Given the description of an element on the screen output the (x, y) to click on. 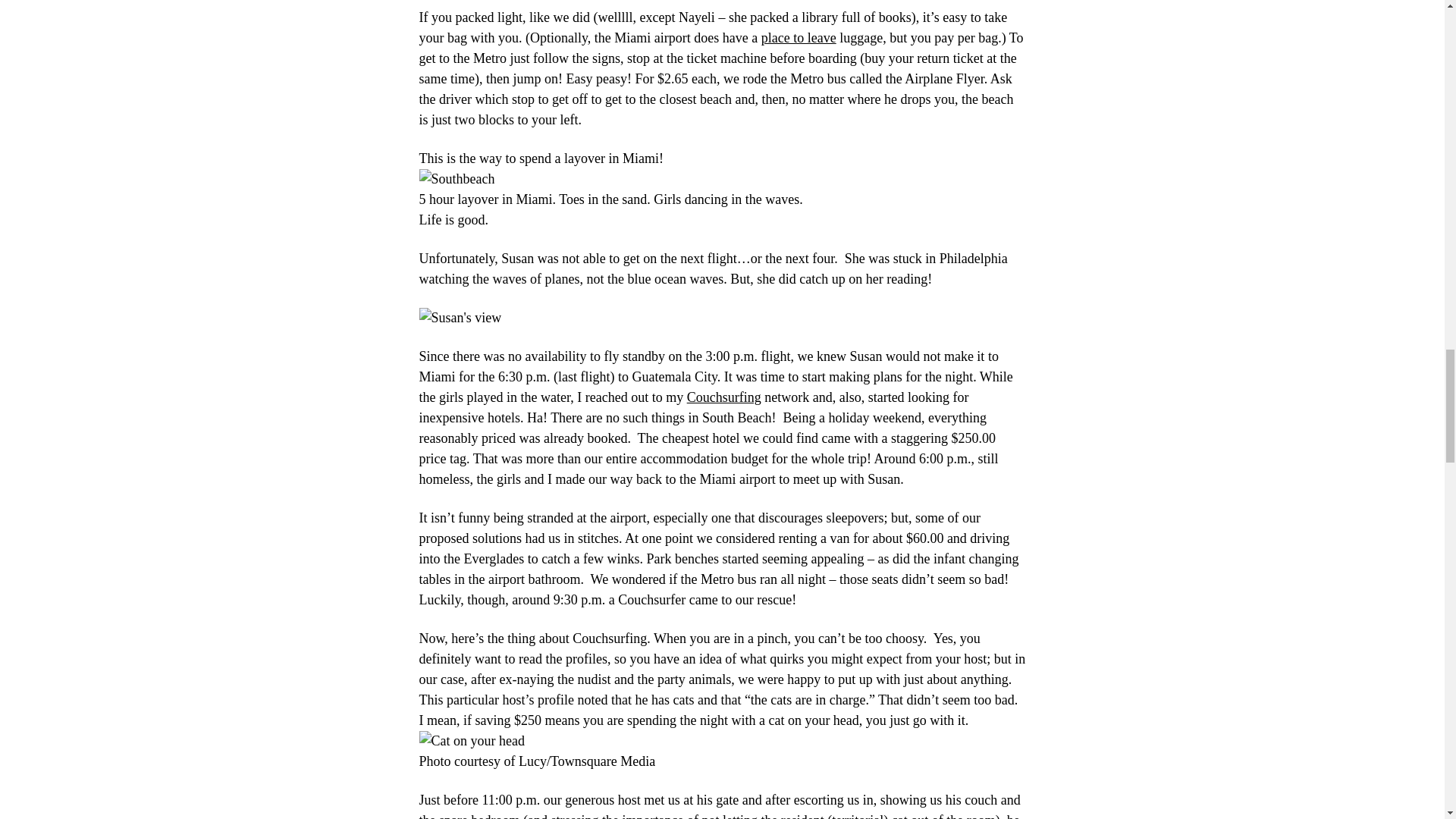
Couchsurfing (724, 396)
place to leave (798, 37)
